Given the description of an element on the screen output the (x, y) to click on. 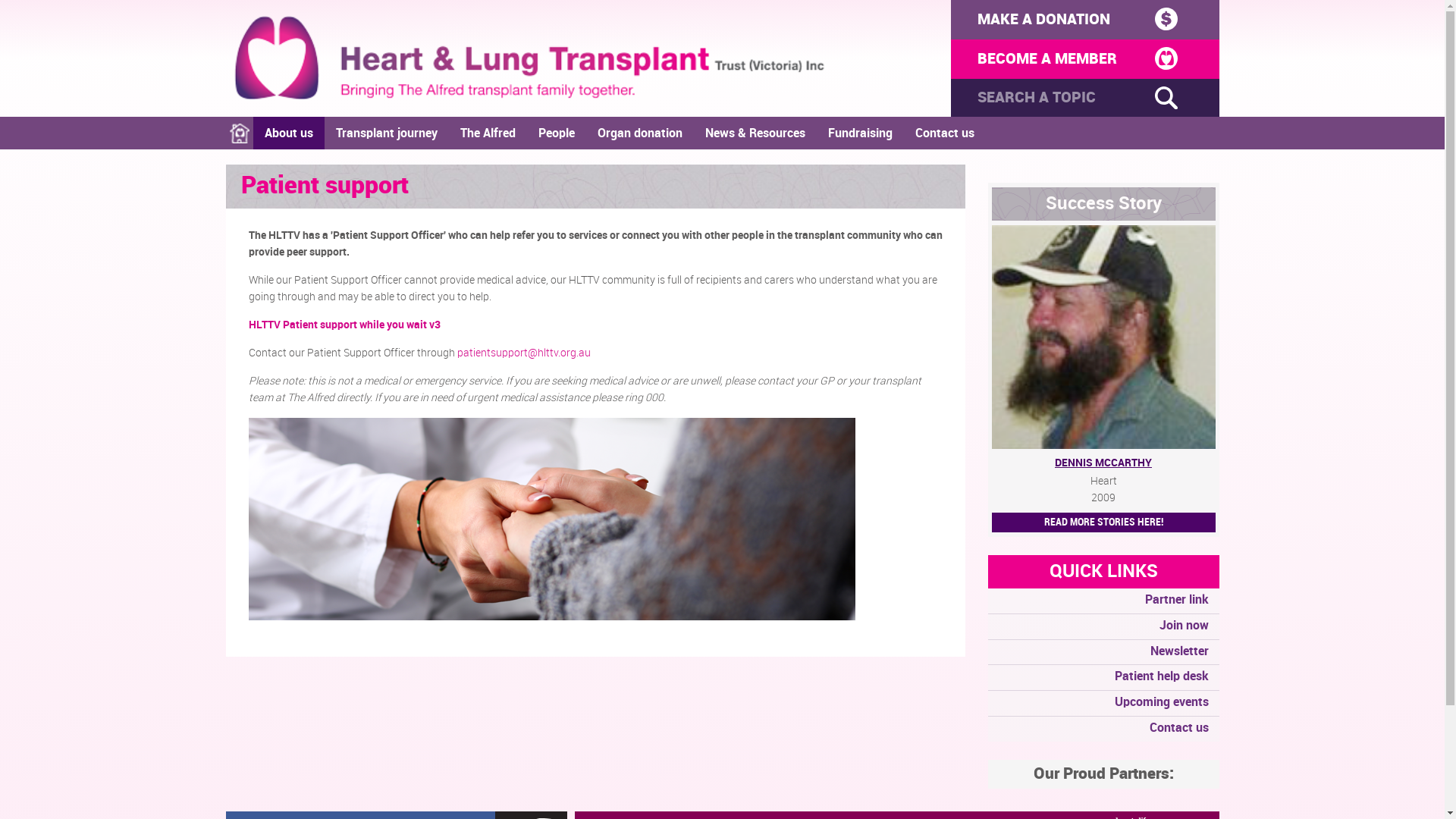
Our Proud Partners: Element type: text (1102, 773)
Fundraising Element type: text (859, 132)
Home Element type: text (239, 132)
Patient help desk Element type: text (1102, 677)
The Alfred Element type: text (487, 132)
Join now Element type: text (1102, 626)
Newsletter Element type: text (1102, 652)
Contact us Element type: text (944, 132)
Contact us Element type: text (1102, 728)
Transplant journey Element type: text (386, 132)
HLTTV Patient support while you wait v3 Element type: text (344, 324)
About us Element type: text (288, 132)
BECOME A MEMBER Element type: text (1084, 58)
Upcoming events Element type: text (1102, 702)
MAKE A DONATION Element type: text (1084, 19)
DENNIS MCCARTHY Element type: text (1103, 463)
Partner link Element type: text (1102, 600)
Organ donation Element type: text (639, 132)
patientsupport@hlttv.org.au Element type: text (522, 353)
People Element type: text (555, 132)
News & Resources Element type: text (754, 132)
READ MORE STORIES HERE! Element type: text (1103, 522)
